Given the description of an element on the screen output the (x, y) to click on. 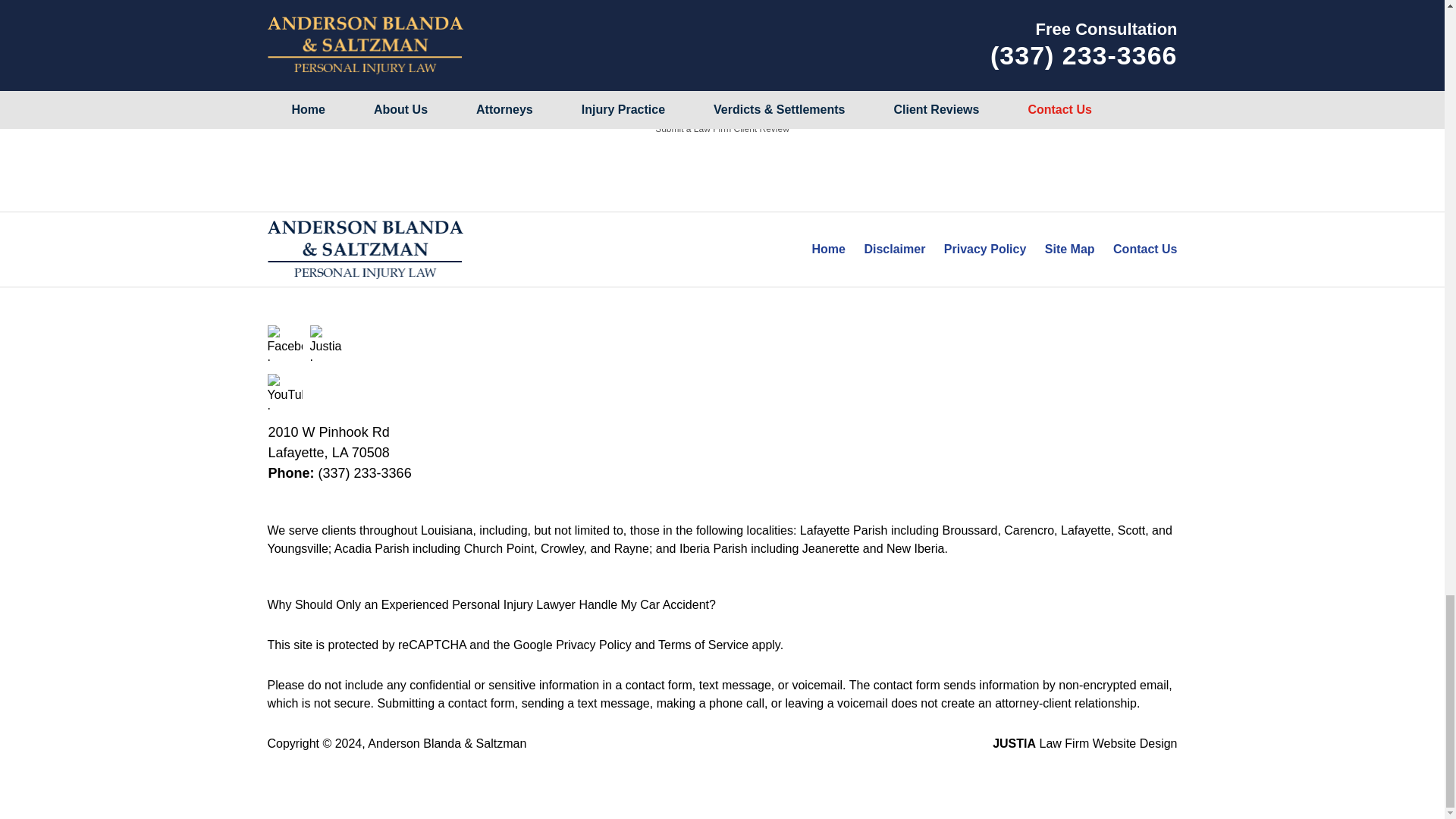
Submit a Law Firm Client Review (722, 128)
VIEW MORE (721, 76)
Privacy Policy (593, 644)
YouTube (284, 391)
Terms of Service (703, 644)
Facebook (284, 343)
JUSTIA Law Firm Website Design (1084, 743)
Privacy Policy (984, 248)
Home (829, 248)
Disclaimer (894, 248)
